Given the description of an element on the screen output the (x, y) to click on. 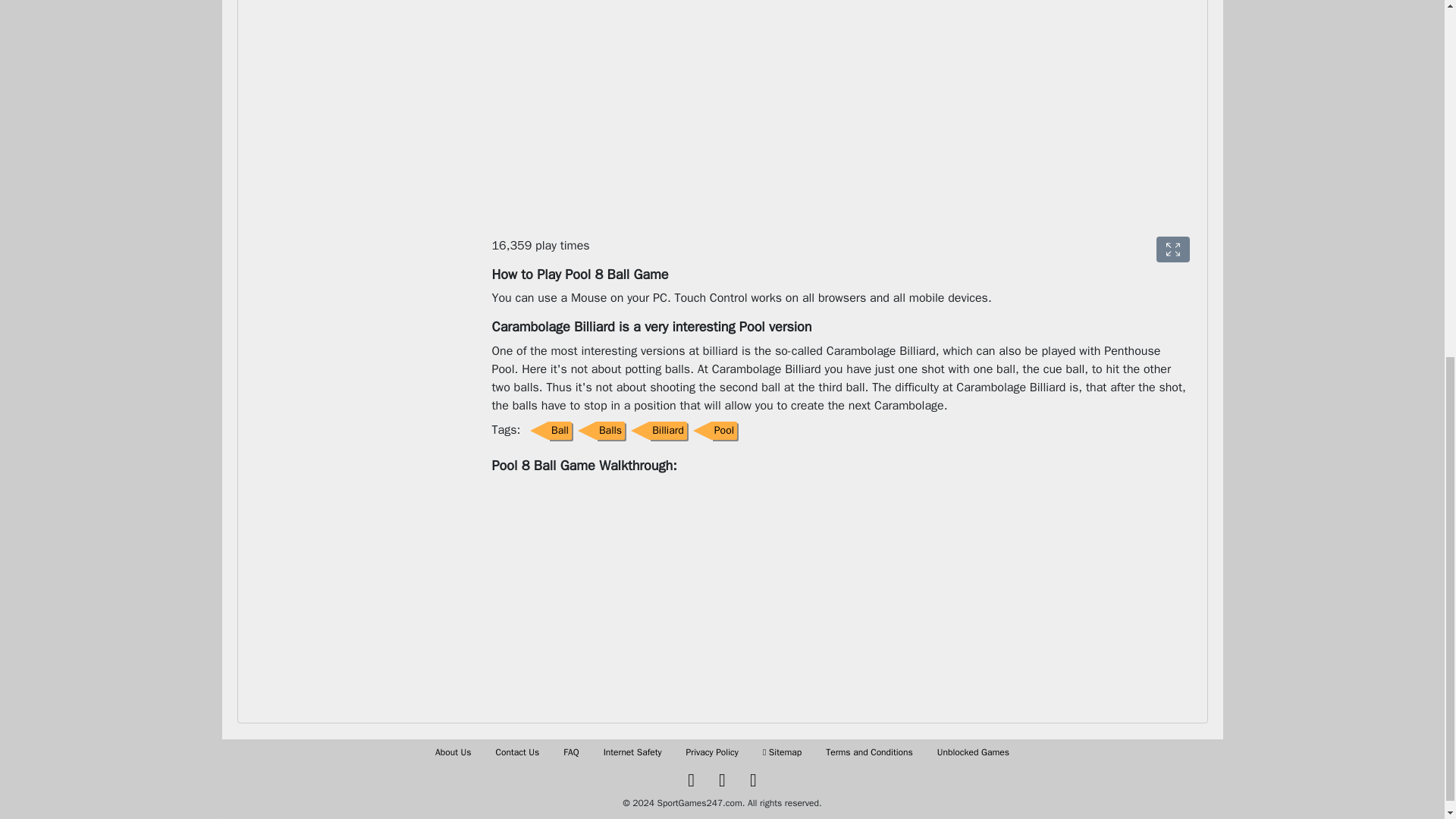
Ball (548, 429)
Contact Us (518, 752)
Internet Safety (633, 752)
Billiard (655, 429)
Balls (598, 429)
Pool (711, 429)
Privacy Policy (711, 752)
FAQ (570, 752)
About Us (452, 752)
Unblocked Games (973, 752)
Terms and Conditions (868, 752)
Fullscreen (1172, 249)
Sitemap (782, 752)
